Given the description of an element on the screen output the (x, y) to click on. 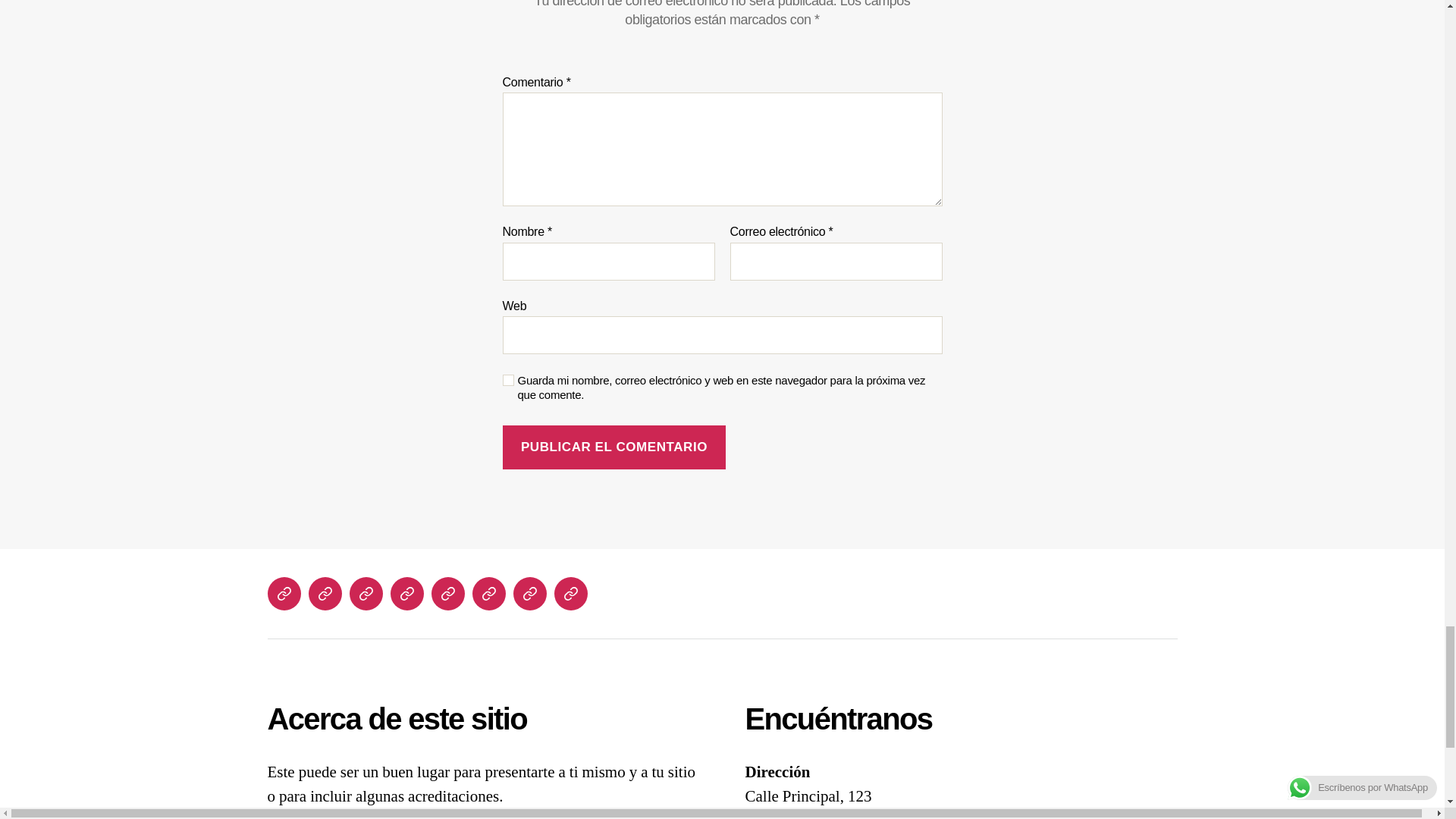
Publicar el comentario (613, 447)
yes (507, 379)
